Given the description of an element on the screen output the (x, y) to click on. 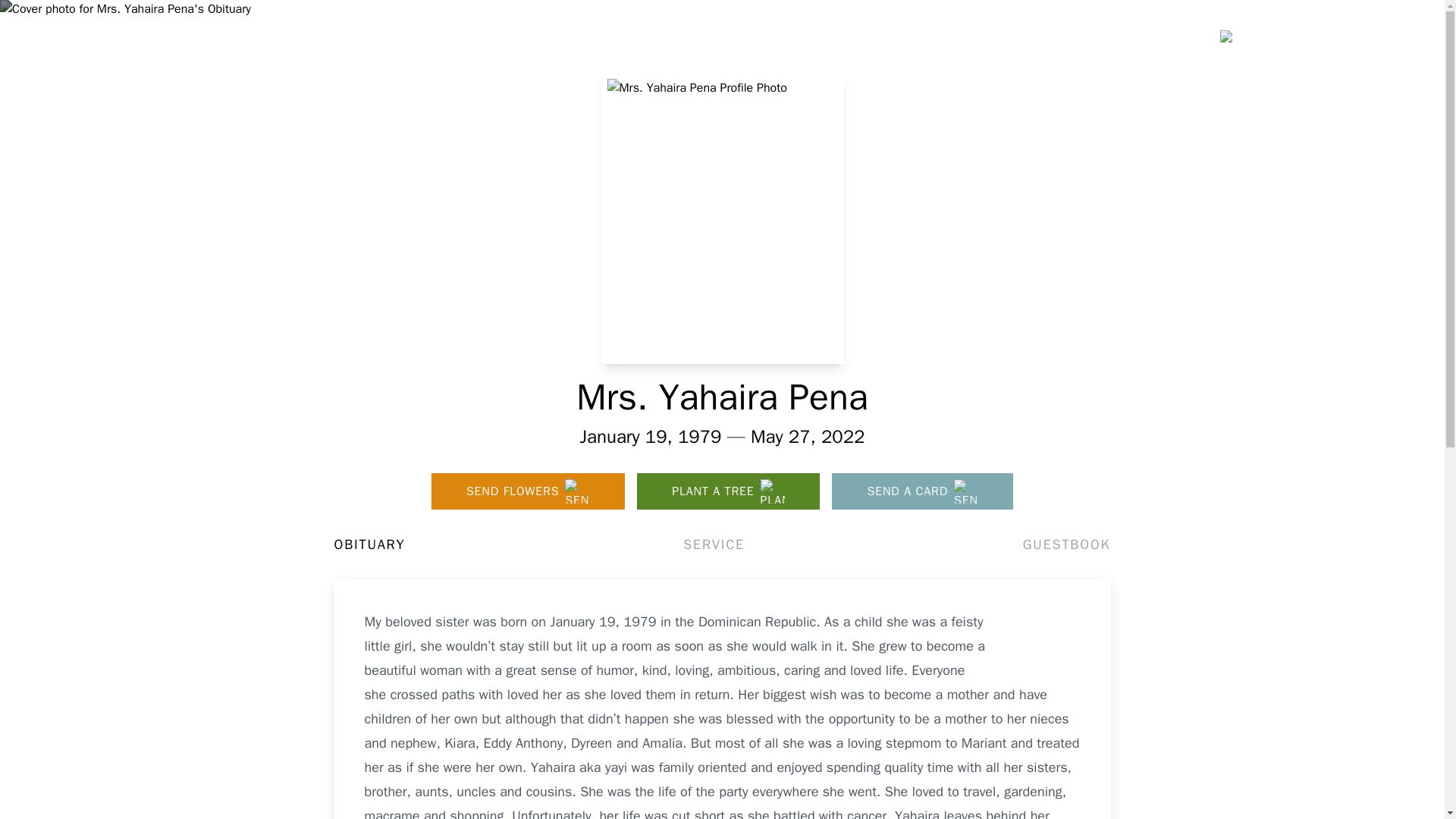
PLANT A TREE (728, 491)
All Obituaries from Crabiel Parkwest Funeral Chapel (1316, 136)
OBITUARY (368, 544)
SERVICE (713, 544)
SEND FLOWERS (527, 491)
GUESTBOOK (1066, 544)
SEND A CARD (922, 491)
